Given the description of an element on the screen output the (x, y) to click on. 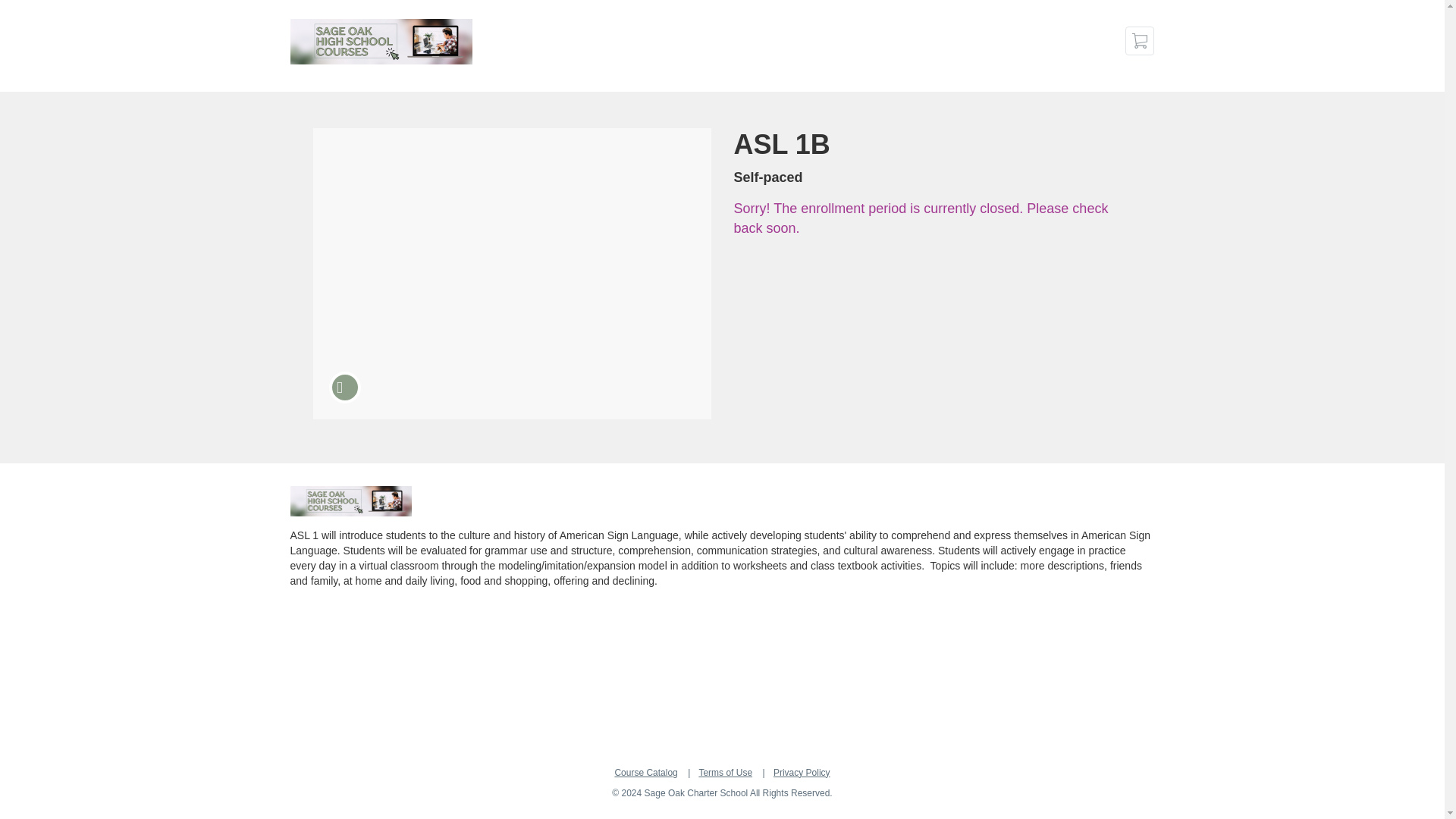
Terms of Use (725, 772)
High School Courses (349, 501)
Course Catalog (645, 772)
Privacy Policy (801, 772)
Cart (1139, 40)
Course (345, 387)
